Given the description of an element on the screen output the (x, y) to click on. 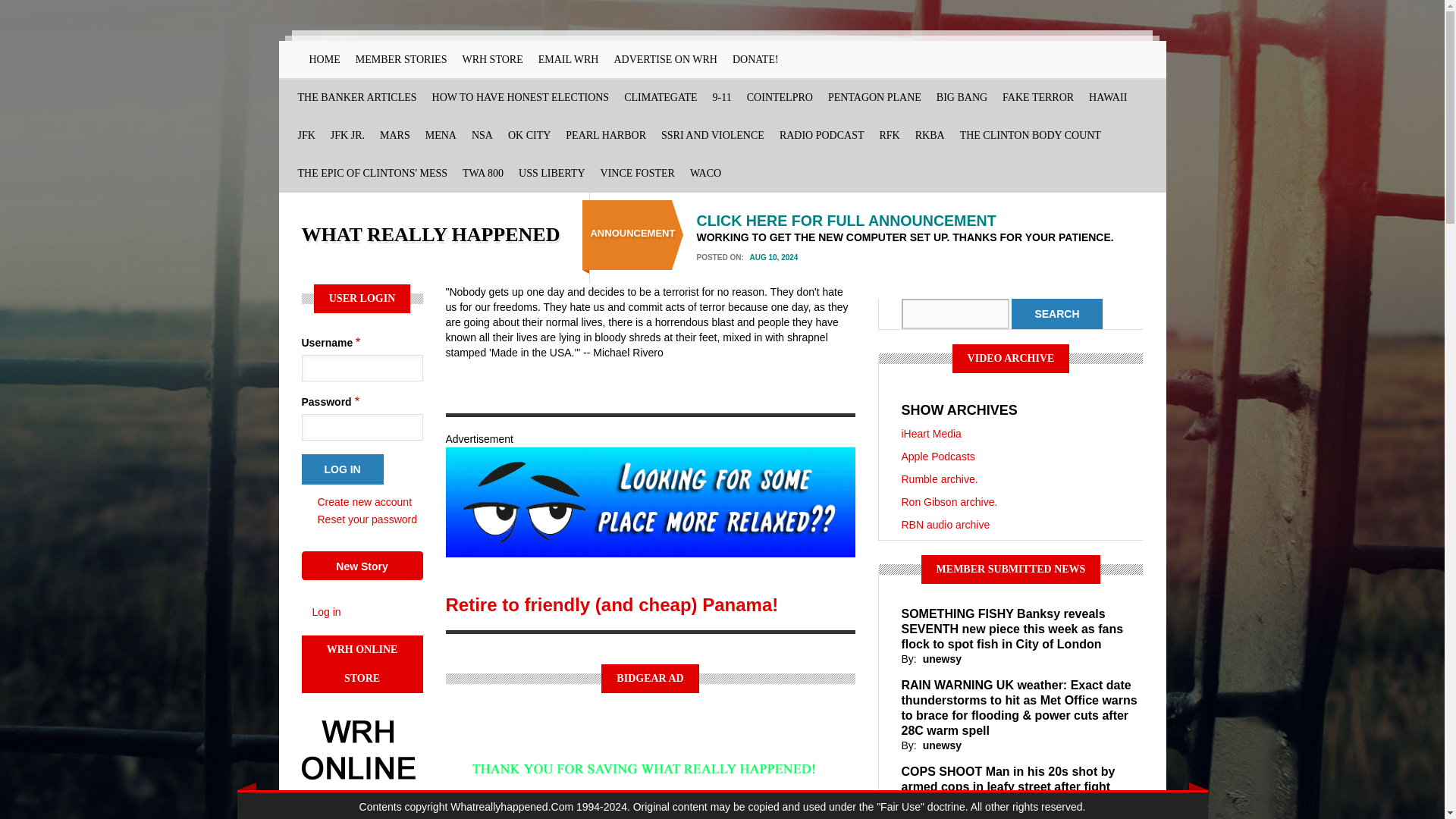
MARS (394, 135)
Home (430, 234)
EMAIL WRH (569, 59)
HOME (324, 59)
encyption challenge (482, 135)
PEARL HARBOR (605, 135)
DONATE! (755, 59)
Create a new user account. (364, 501)
MEMBER STORIES (400, 59)
BIG BANG (961, 97)
